Given the description of an element on the screen output the (x, y) to click on. 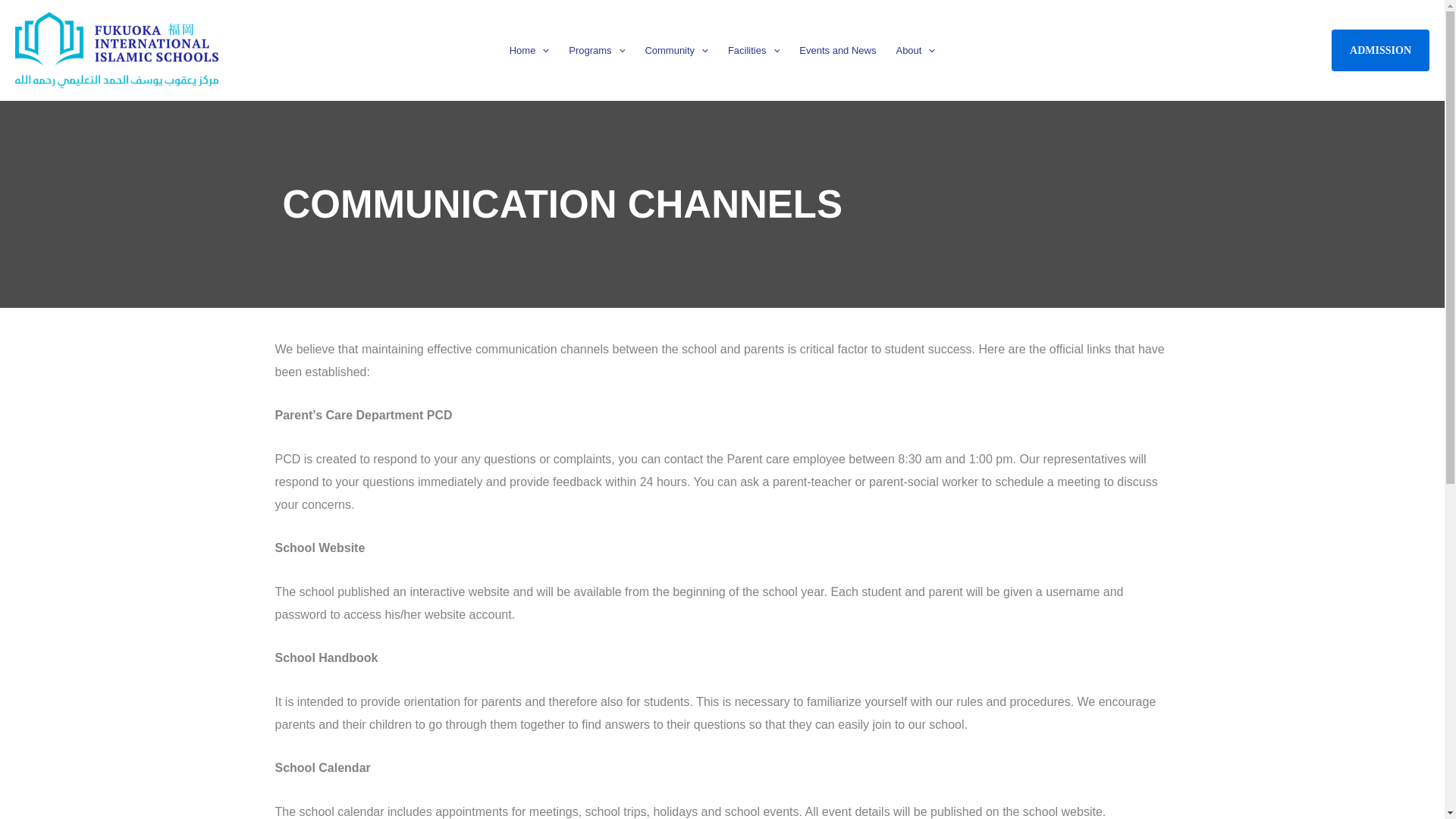
Programs (596, 49)
Facilities (753, 49)
Community (675, 49)
Events and News (837, 49)
ADMISSION (1380, 49)
